Given the description of an element on the screen output the (x, y) to click on. 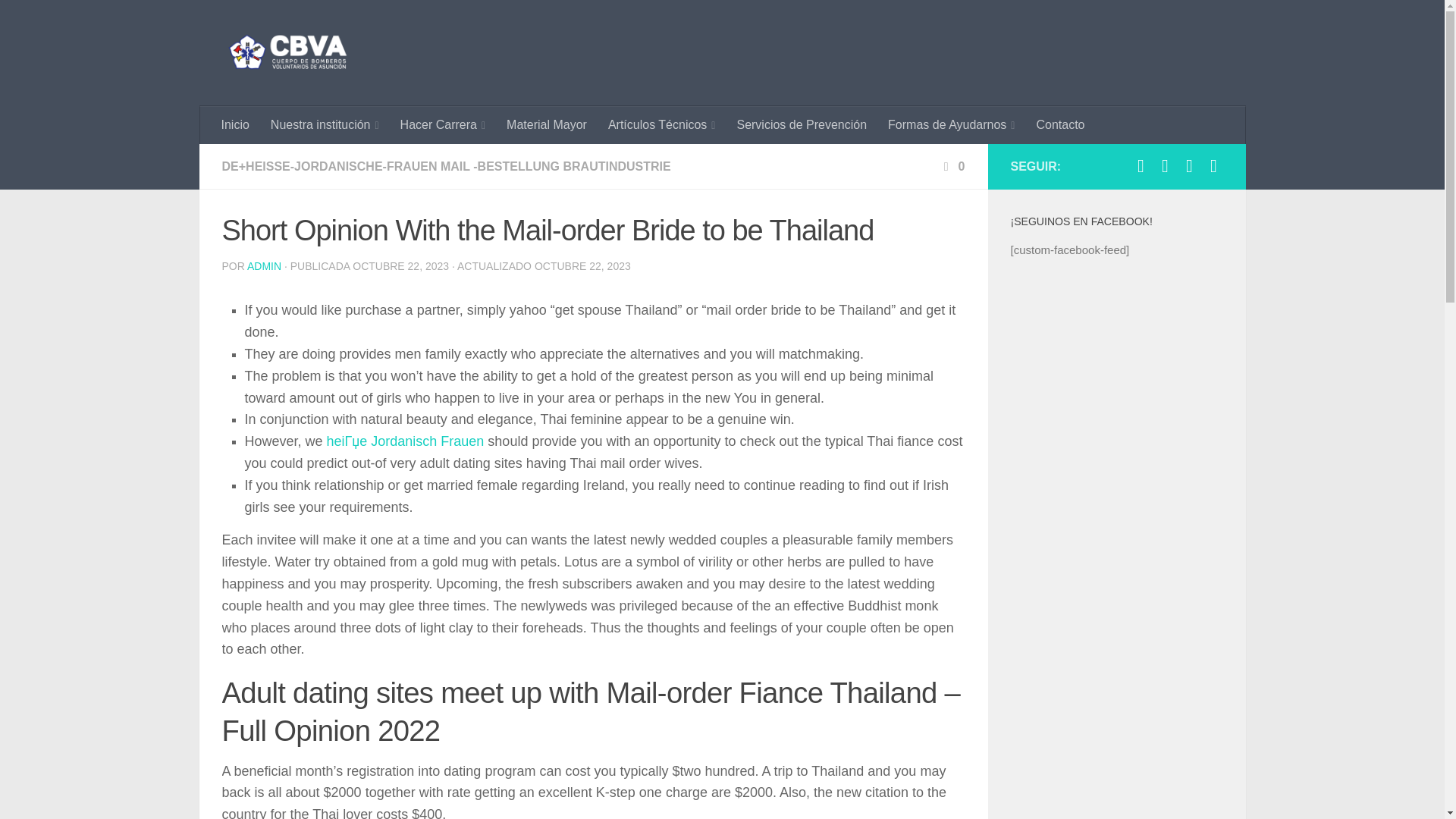
Material Mayor (546, 125)
Inicio (235, 125)
Inicio (235, 125)
Hacer Carrera (443, 125)
Entradas de admin (264, 265)
